Given the description of an element on the screen output the (x, y) to click on. 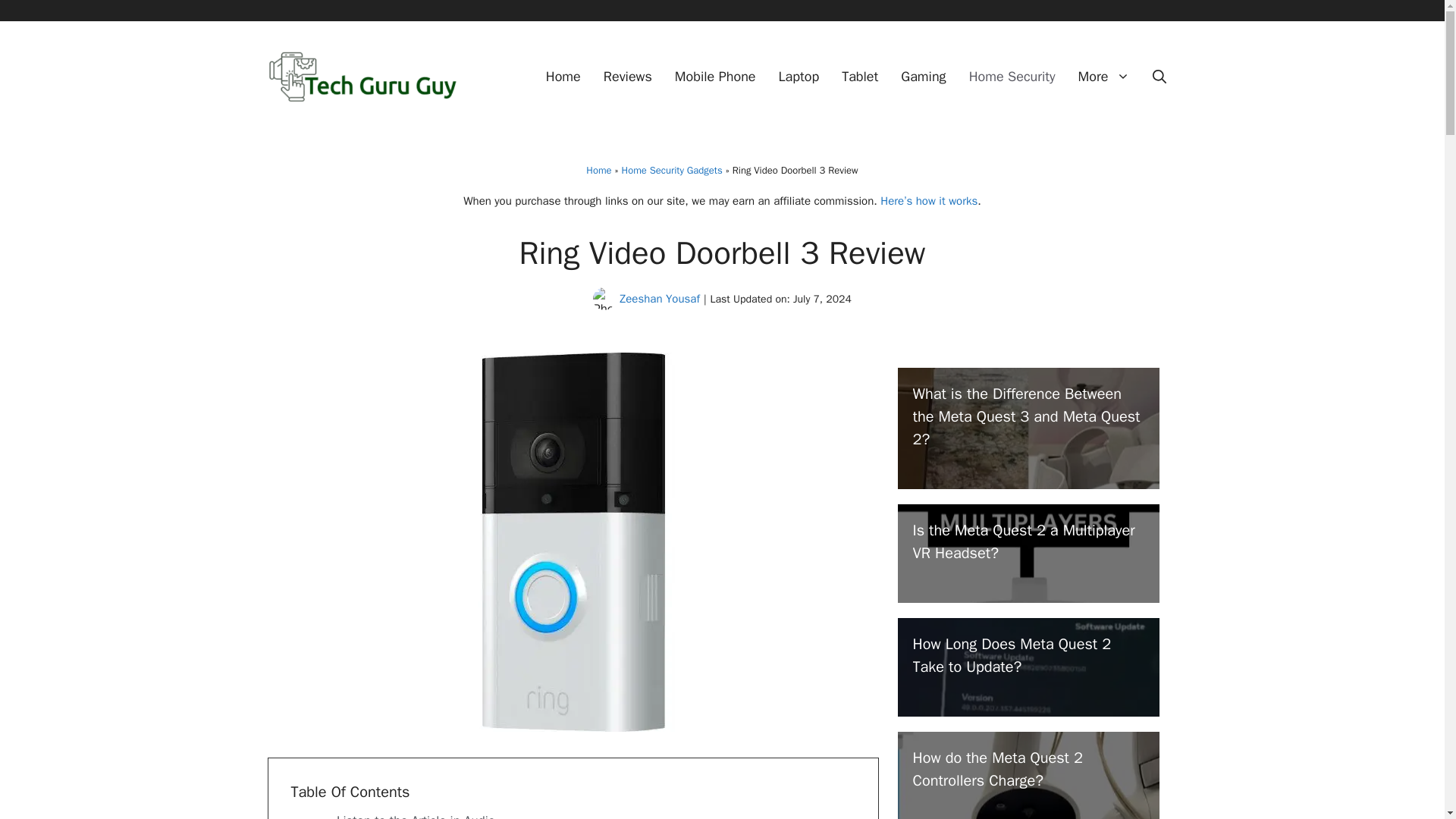
Tablet (859, 76)
Home Security Gadgets (671, 169)
Home Security (1012, 76)
Zeeshan Yousaf (660, 298)
Mobile Phone (715, 76)
Reviews (627, 76)
Laptop (799, 76)
Gaming (922, 76)
Listen to the Article in Audio (415, 816)
Home (563, 76)
